Given the description of an element on the screen output the (x, y) to click on. 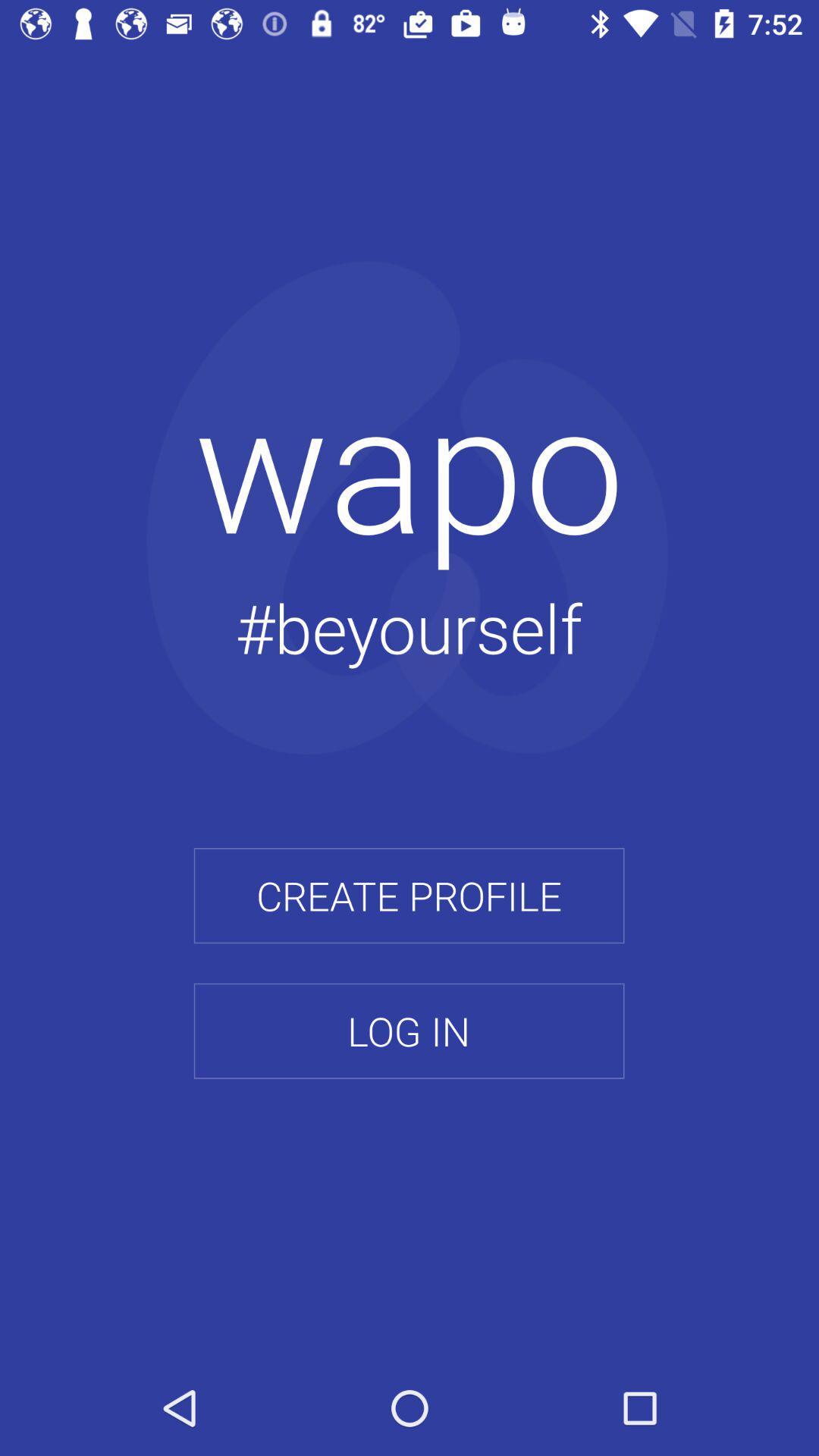
swipe to log in icon (408, 1030)
